Given the description of an element on the screen output the (x, y) to click on. 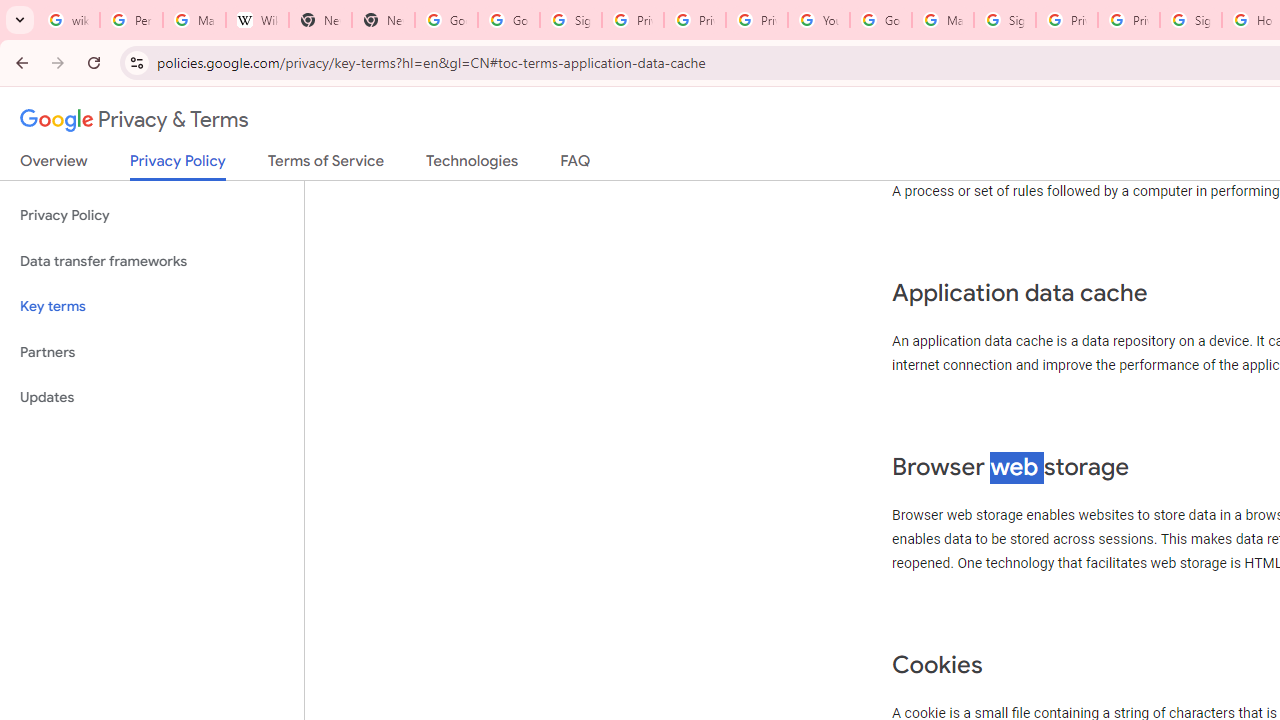
New Tab (383, 20)
Personalization & Google Search results - Google Search Help (130, 20)
